Given the description of an element on the screen output the (x, y) to click on. 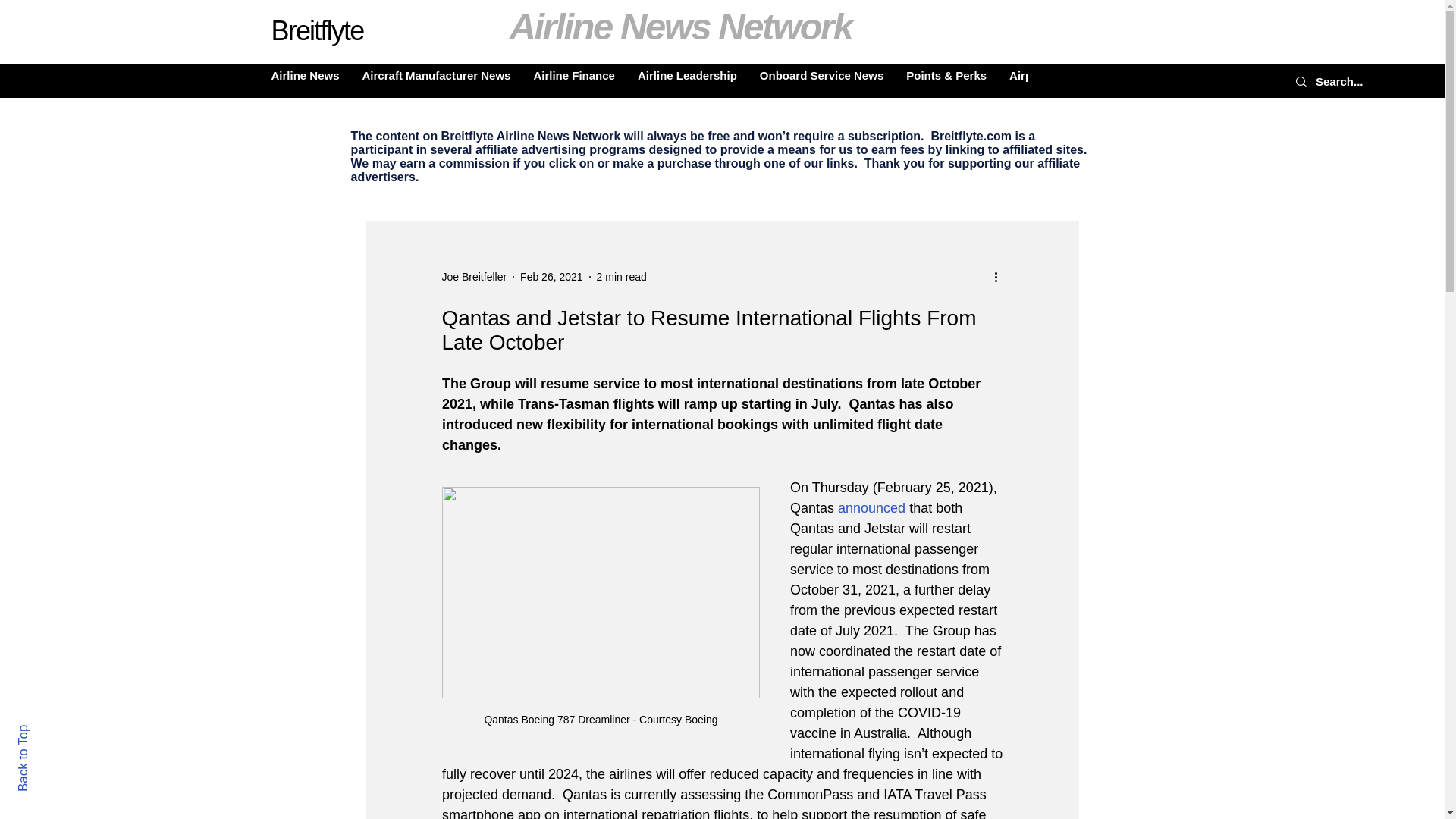
announced (871, 507)
Onboard Service News (821, 81)
Airline Finance (573, 81)
Joe Breitfeller (473, 276)
Breitflyte (317, 30)
Feb 26, 2021 (551, 275)
Airline News (304, 81)
Back to Top (49, 730)
Airport News (1043, 81)
Aircraft Manufacturer News (436, 81)
